Given the description of an element on the screen output the (x, y) to click on. 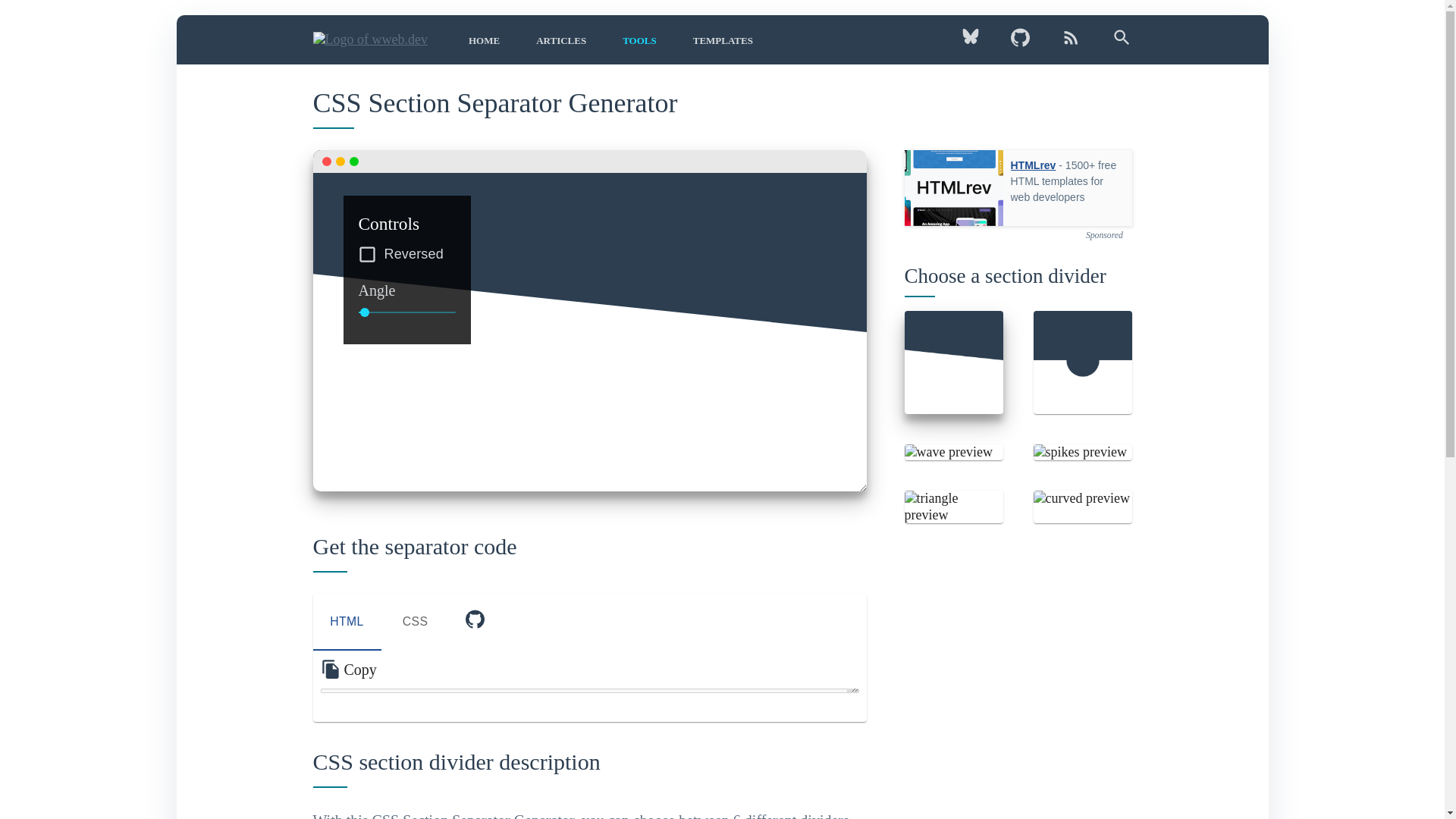
Search (1114, 43)
RSS Feed (1070, 43)
CSS (414, 621)
TEMPLATES (713, 40)
Github (1019, 43)
HTML (346, 621)
6 (364, 311)
2 (589, 621)
TOOLS (473, 621)
Bluesky (639, 40)
ARTICLES (977, 40)
HOME (561, 40)
